Given the description of an element on the screen output the (x, y) to click on. 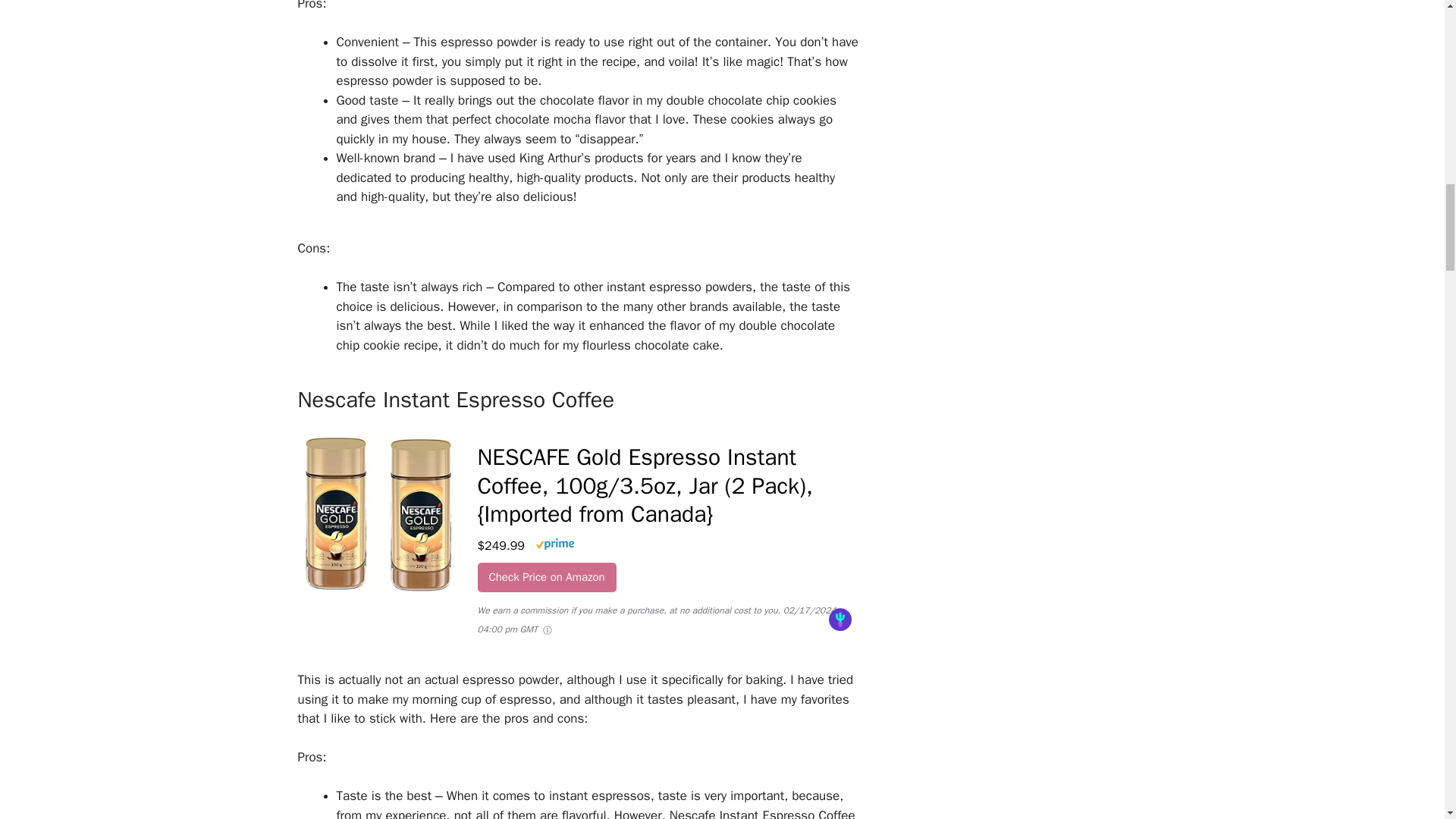
Check Price on Amazon (546, 577)
